Given the description of an element on the screen output the (x, y) to click on. 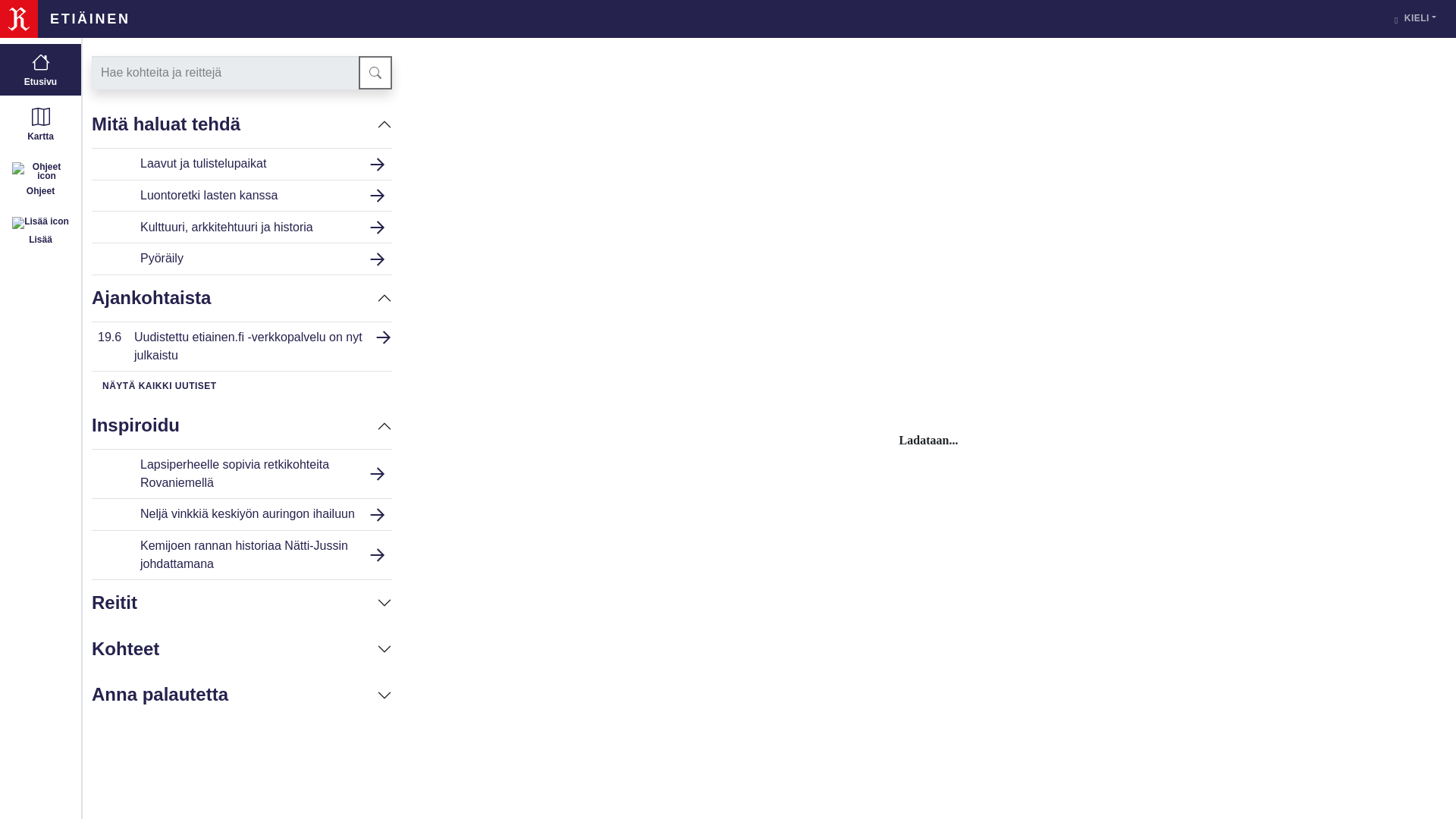
Laavut ja tulistelupaikat (241, 163)
Etusivu (40, 69)
Luontoretki lasten kanssa (241, 346)
Kartta (241, 195)
Ohjeet (40, 123)
Kulttuuri, arkkitehtuuri ja historia (40, 178)
KIELI (241, 226)
